Given the description of an element on the screen output the (x, y) to click on. 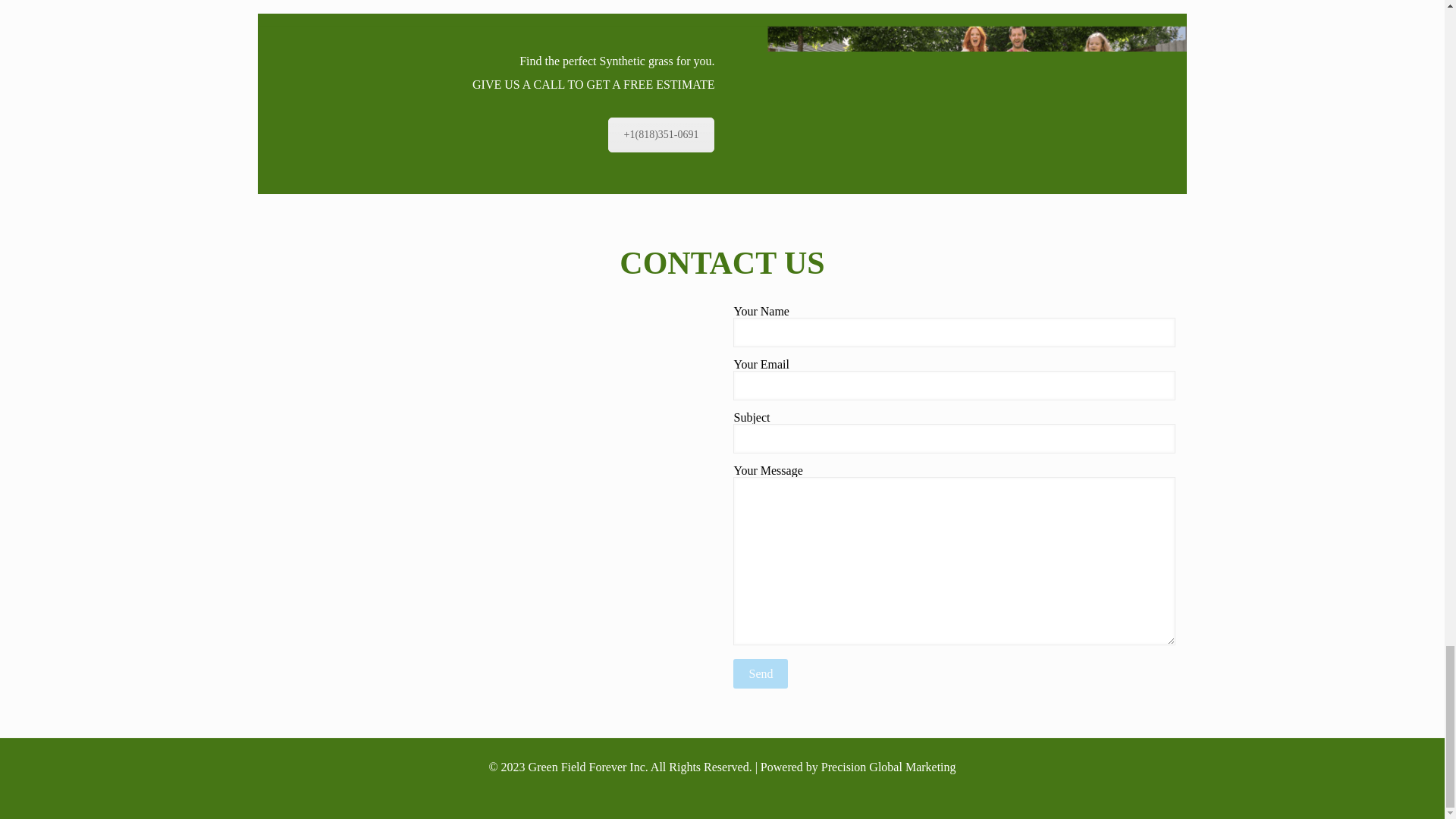
Send (760, 673)
